Given the description of an element on the screen output the (x, y) to click on. 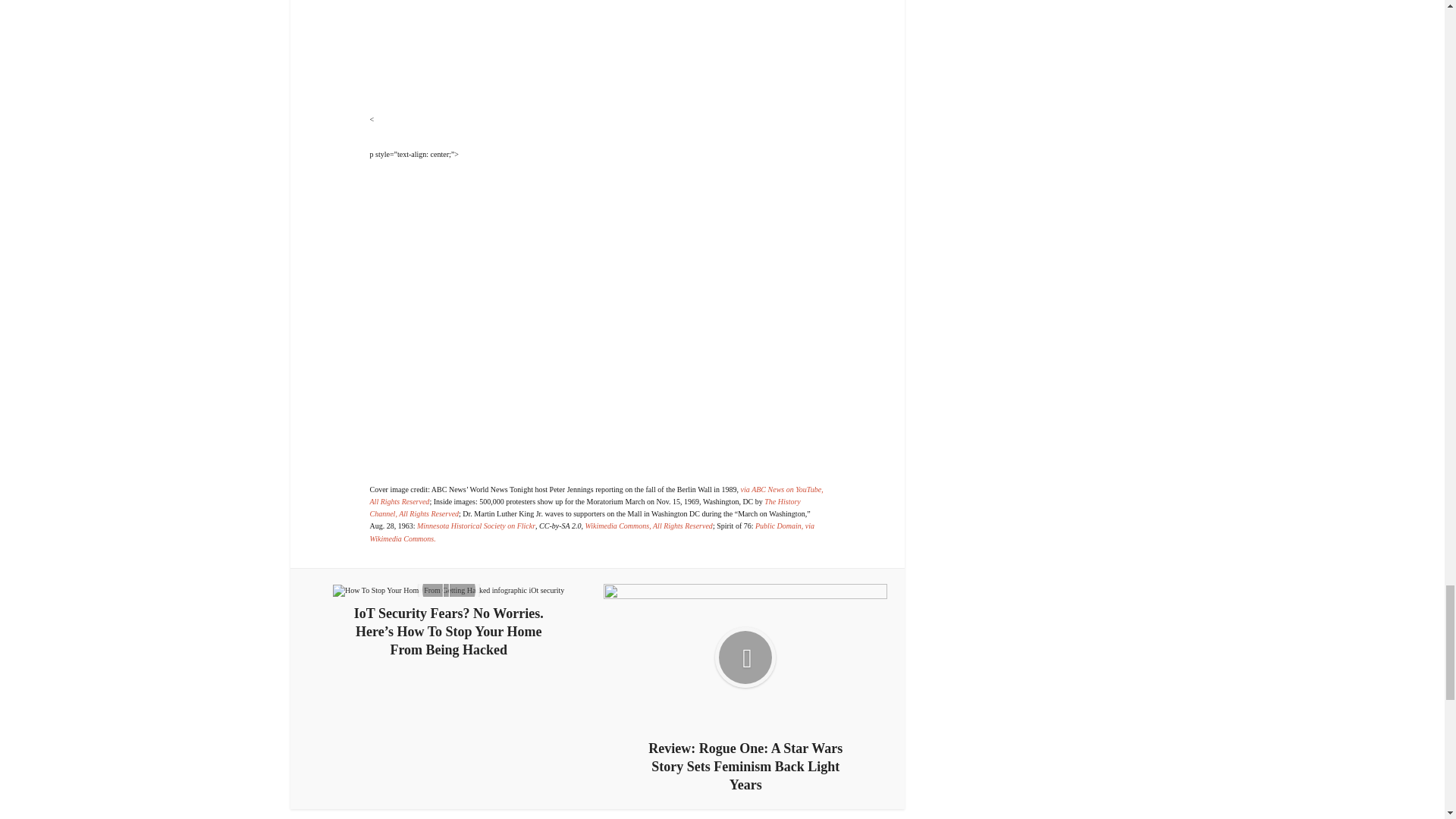
Minnesota Historical Society on Flickr (475, 525)
Public Domain, via Wikimedia Commons. (592, 531)
Wikimedia Commons, All Rights Reserved (648, 525)
The History Channel, All Rights Reserved (584, 507)
via ABC News on YouTube, All Rights Reserved (596, 495)
